Given the description of an element on the screen output the (x, y) to click on. 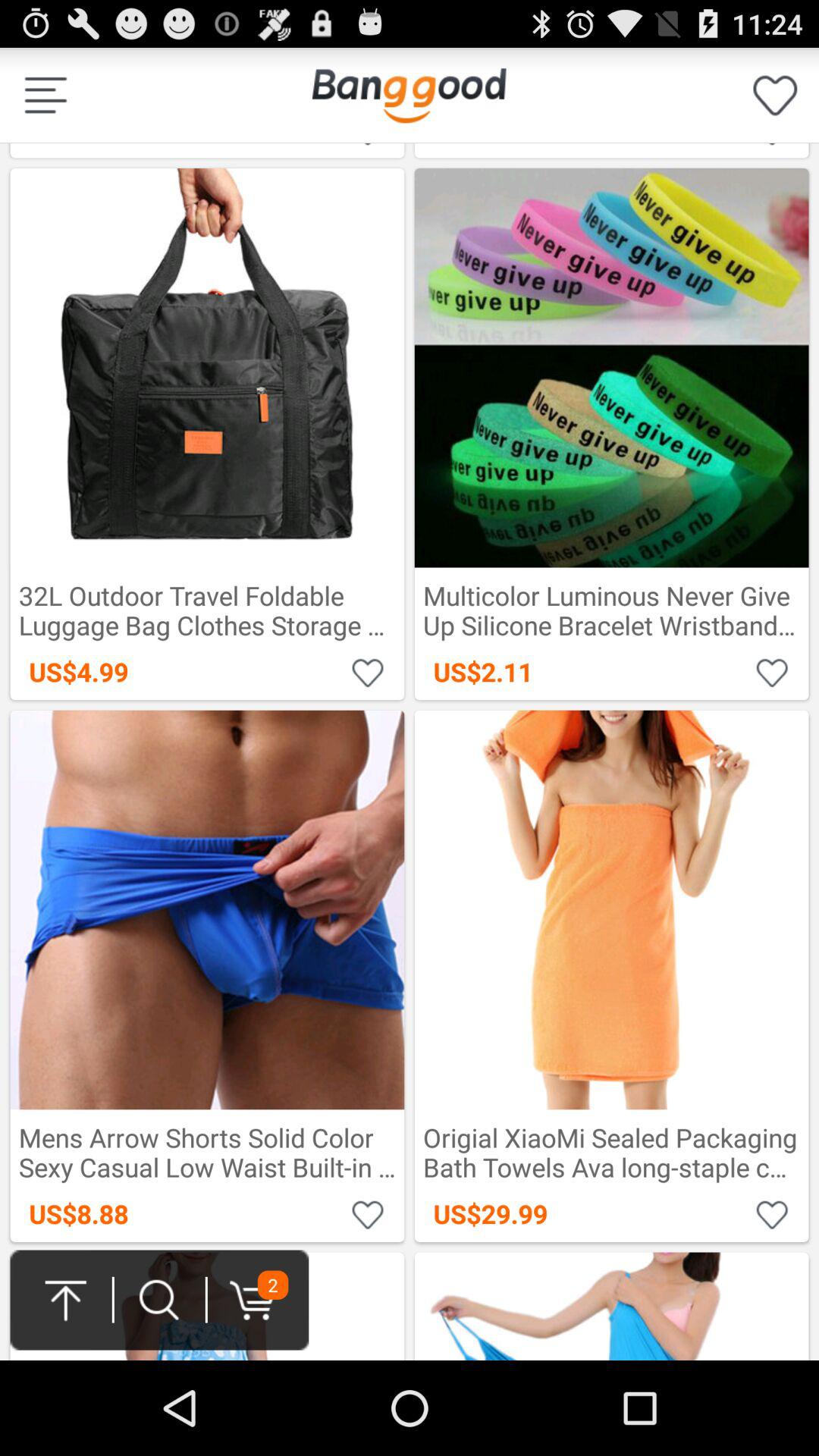
favorite this product (772, 1213)
